Given the description of an element on the screen output the (x, y) to click on. 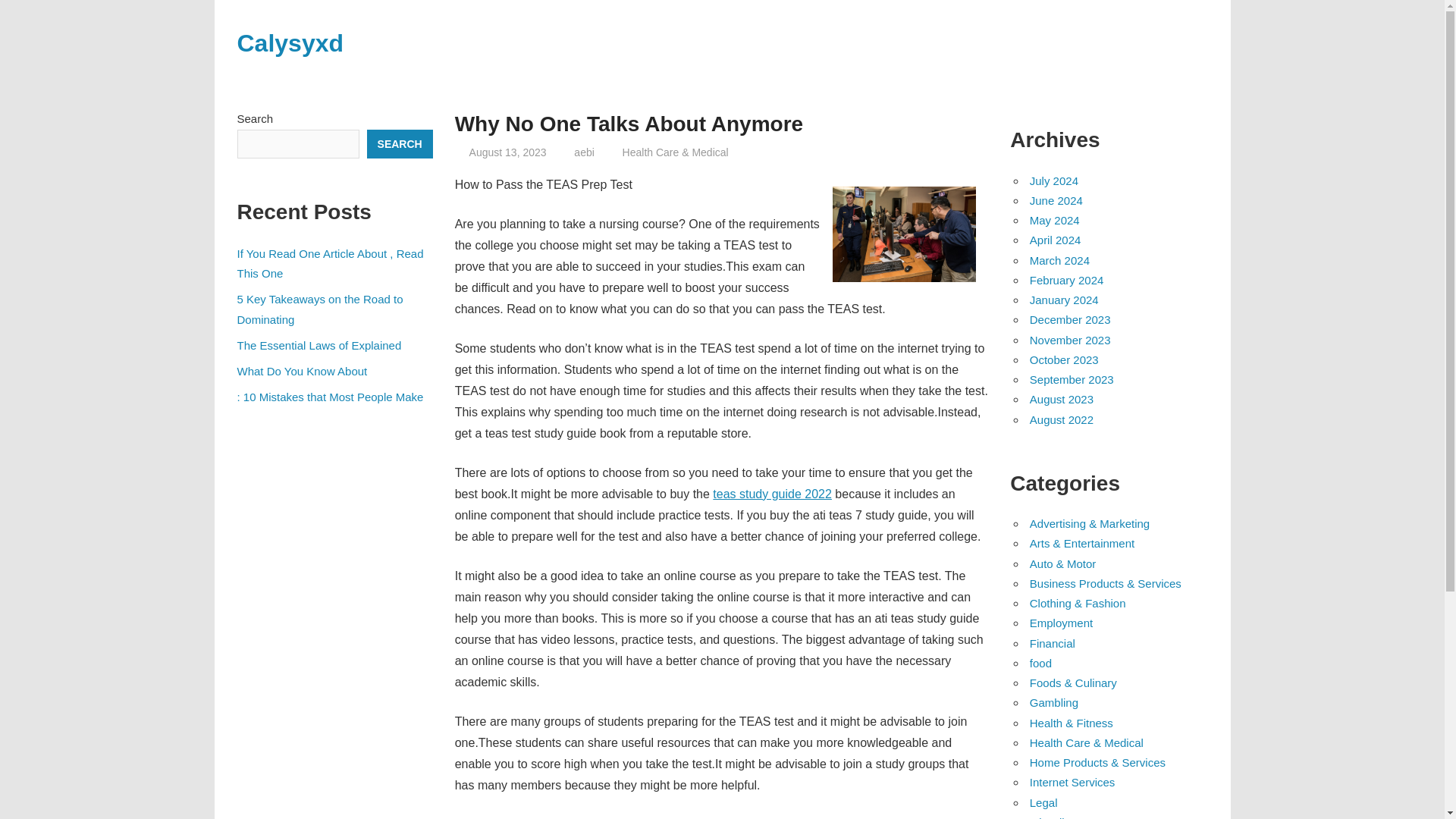
January 2024 (1064, 299)
July 2024 (1053, 180)
The Essential Laws of Explained (318, 345)
Calysyxd (289, 42)
September 2023 (1071, 379)
What Do You Know About (300, 370)
June 2024 (1056, 200)
: 10 Mistakes that Most People Make (329, 396)
August 2023 (1061, 399)
August 2022 (1061, 419)
Financial (1052, 643)
If You Read One Article About , Read This One (329, 263)
October 2023 (1064, 359)
aebi (583, 152)
teas study guide 2022 (772, 493)
